Given the description of an element on the screen output the (x, y) to click on. 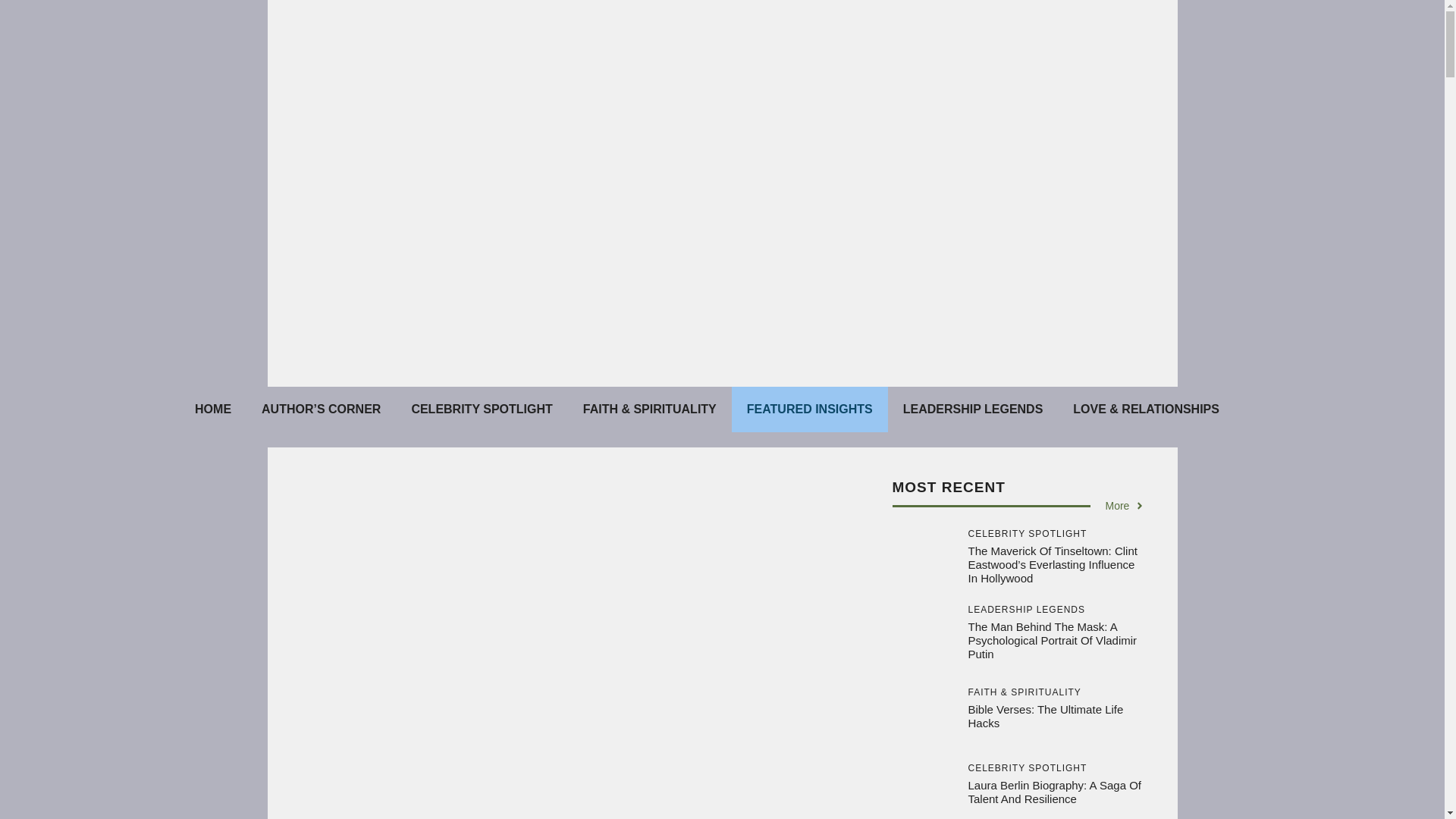
LEADERSHIP LEGENDS (973, 409)
CELEBRITY SPOTLIGHT (481, 409)
FEATURED INSIGHTS (810, 409)
HOME (212, 409)
